Given the description of an element on the screen output the (x, y) to click on. 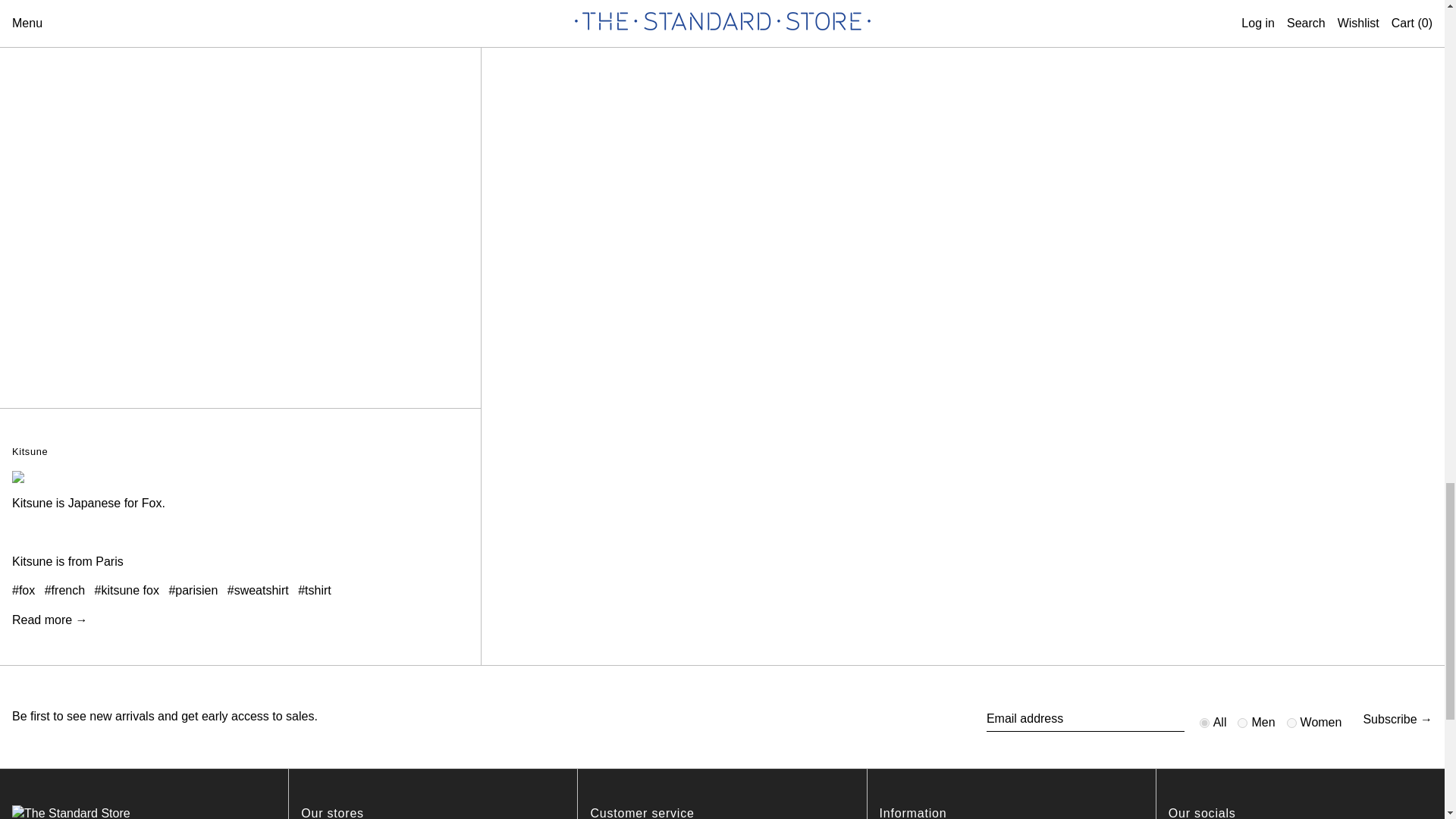
Mens (1242, 723)
Womens (1292, 723)
All (1204, 723)
